Given the description of an element on the screen output the (x, y) to click on. 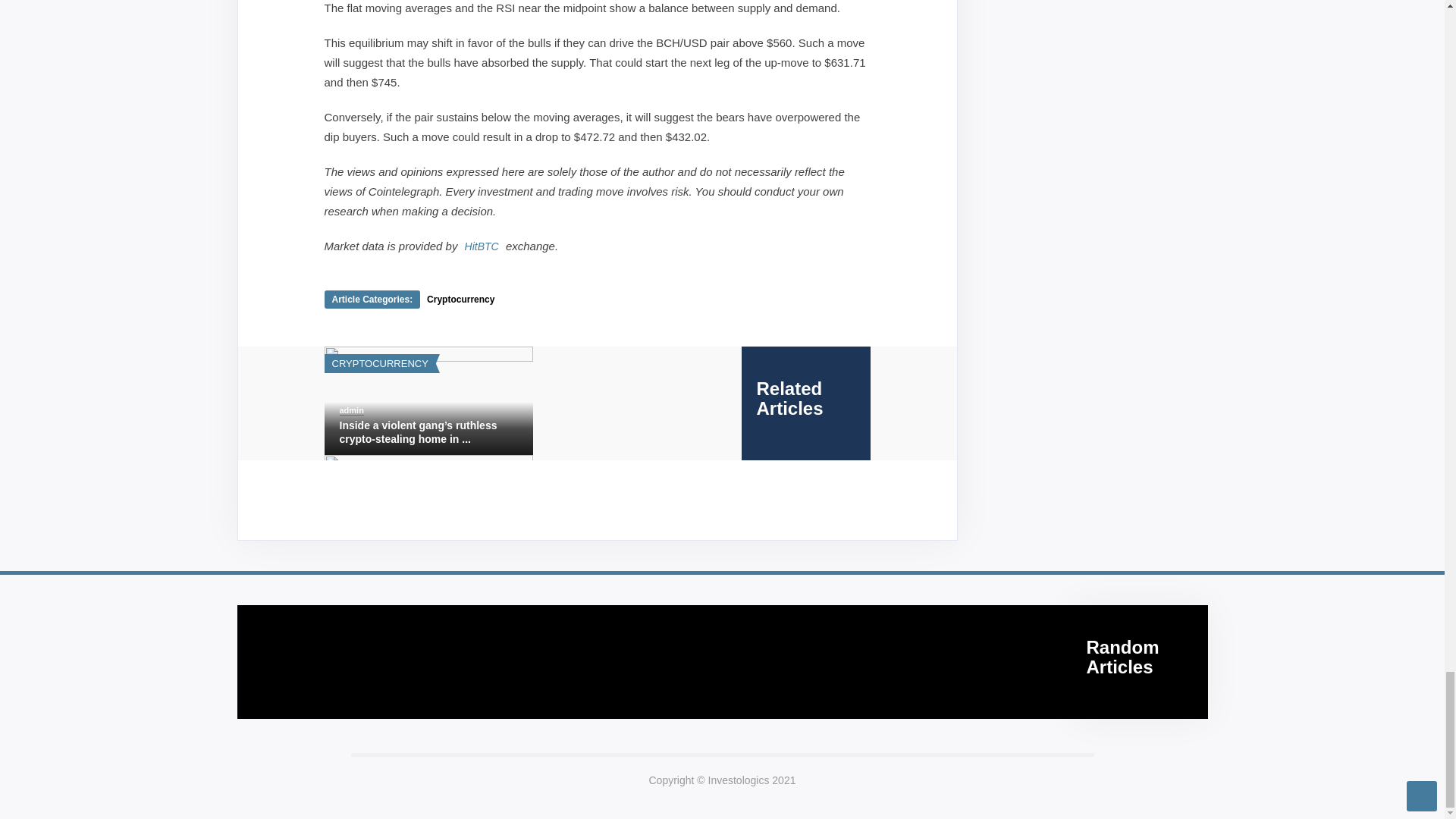
CRYPTOCURRENCY (379, 363)
View all posts in Cryptocurrency (379, 363)
HitBTC (481, 245)
Cryptocurrency (460, 299)
admin (351, 410)
Posts by admin (351, 410)
